Given the description of an element on the screen output the (x, y) to click on. 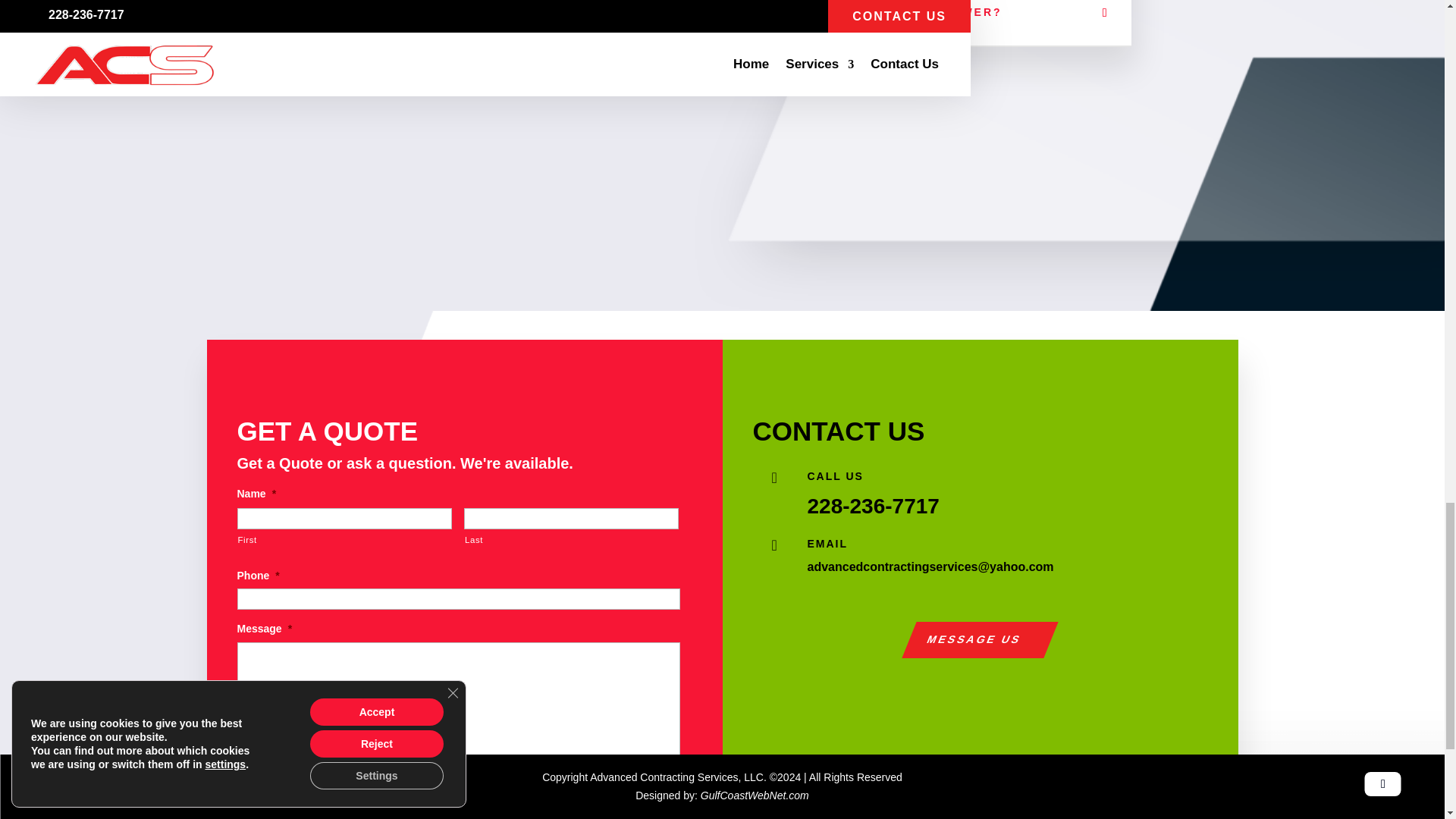
EMAIL (826, 543)
MESSAGE US (972, 639)
CALL US (834, 476)
SUBMIT (284, 806)
